Given the description of an element on the screen output the (x, y) to click on. 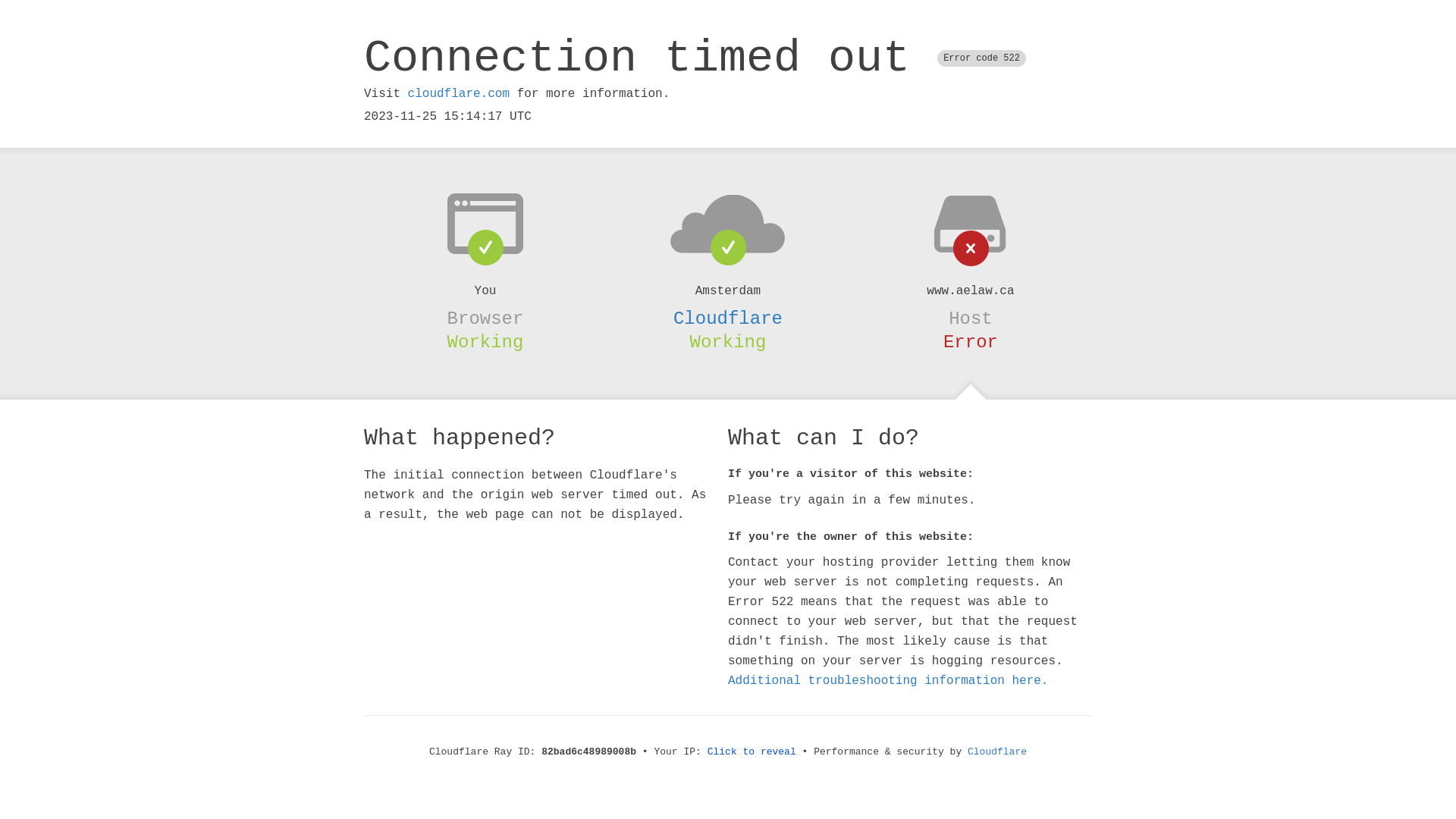
Click to reveal Element type: text (751, 751)
Cloudflare Element type: text (996, 751)
cloudflare.com Element type: text (458, 93)
Cloudflare Element type: text (727, 318)
Additional troubleshooting information here. Element type: text (888, 680)
